Given the description of an element on the screen output the (x, y) to click on. 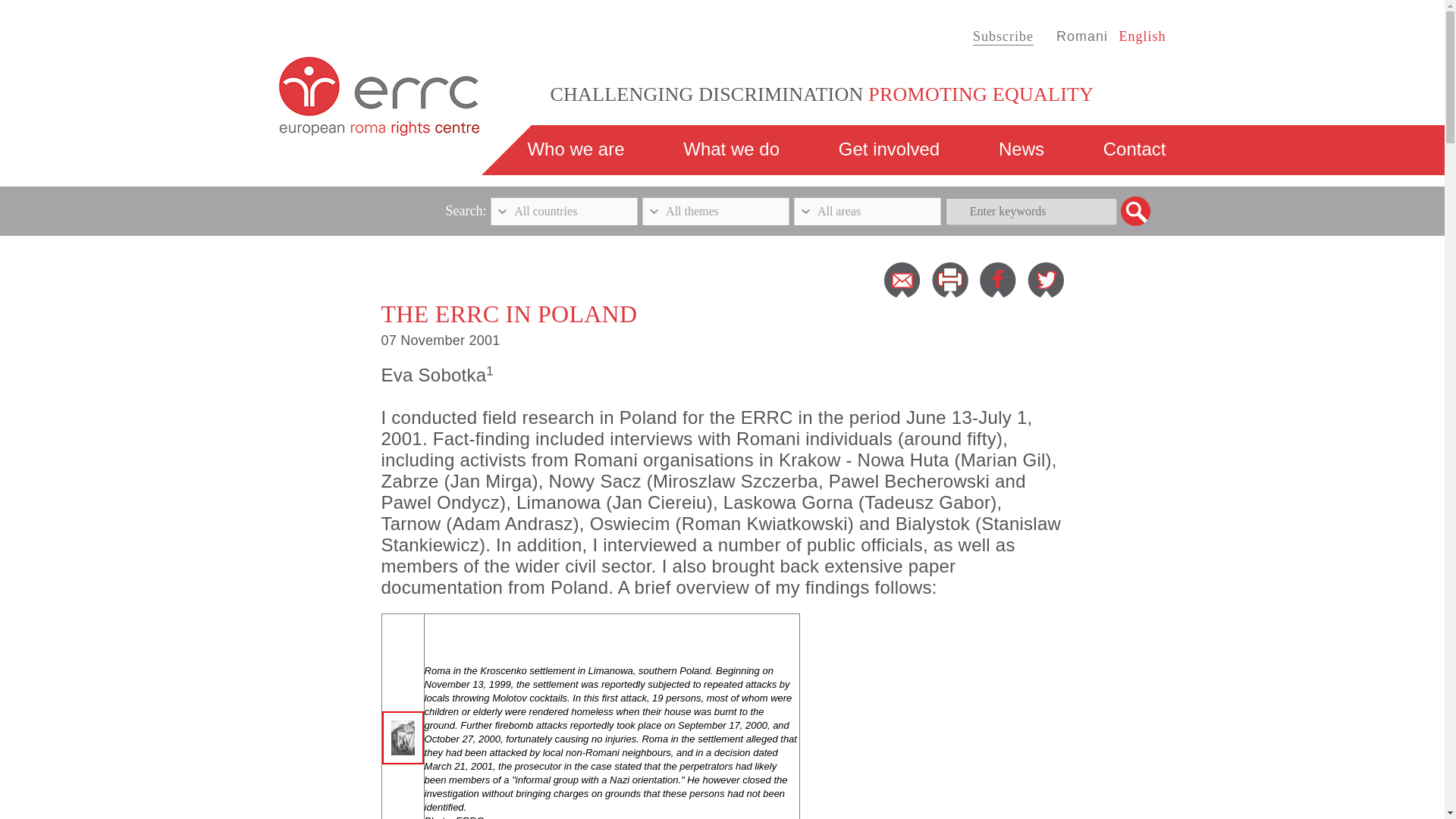
English (1142, 36)
Who we are (575, 148)
News (1020, 148)
Get involved (888, 148)
Contact (1134, 148)
Subscribe (1002, 36)
Romani (1082, 36)
What we do (730, 148)
